Given the description of an element on the screen output the (x, y) to click on. 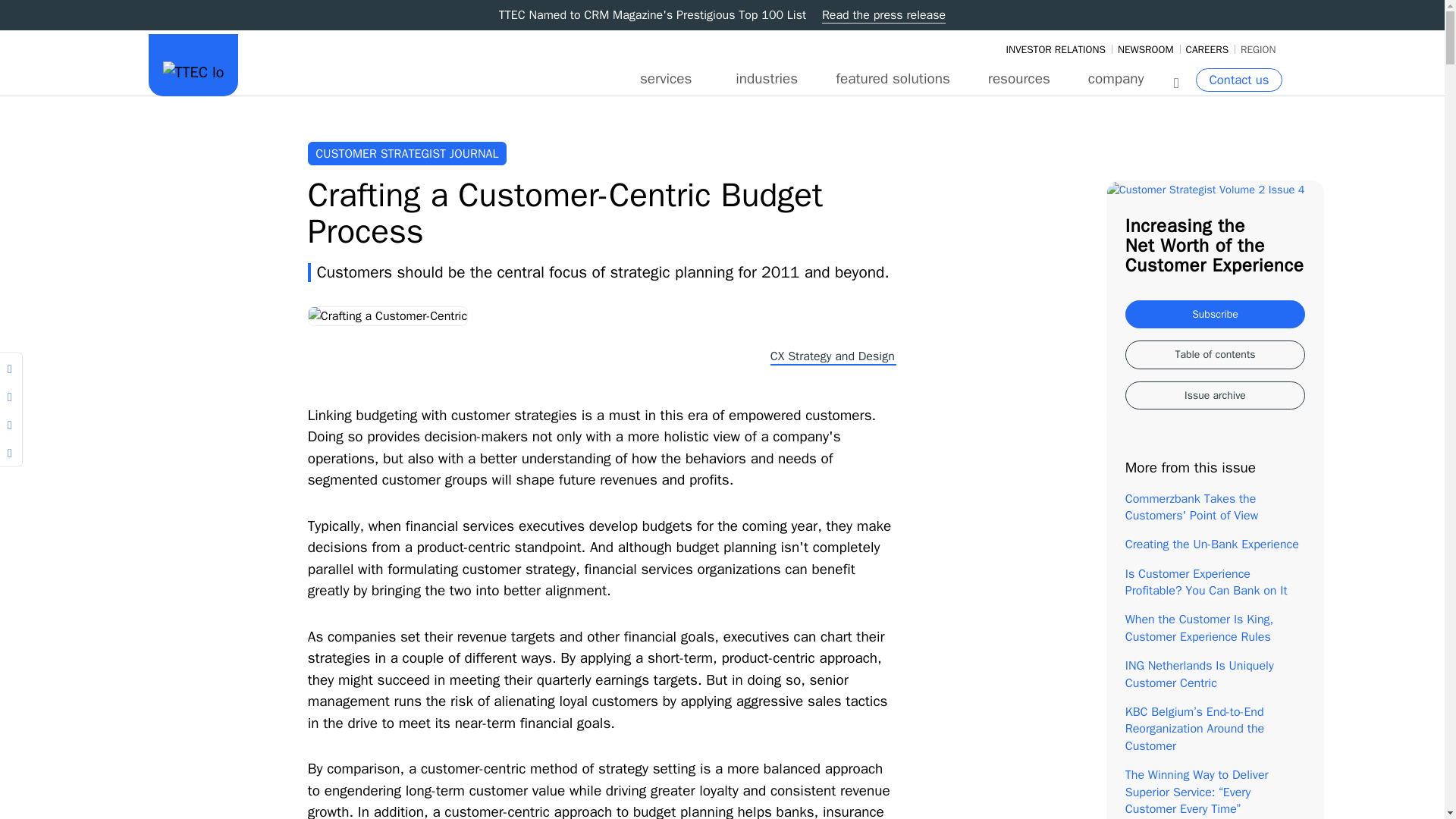
services (665, 79)
INVESTOR RELATIONS (1054, 49)
Read the press release (883, 15)
View TTEC homepage (191, 62)
NEWSROOM (1145, 49)
CAREERS (1206, 49)
REGION (1257, 49)
